Given the description of an element on the screen output the (x, y) to click on. 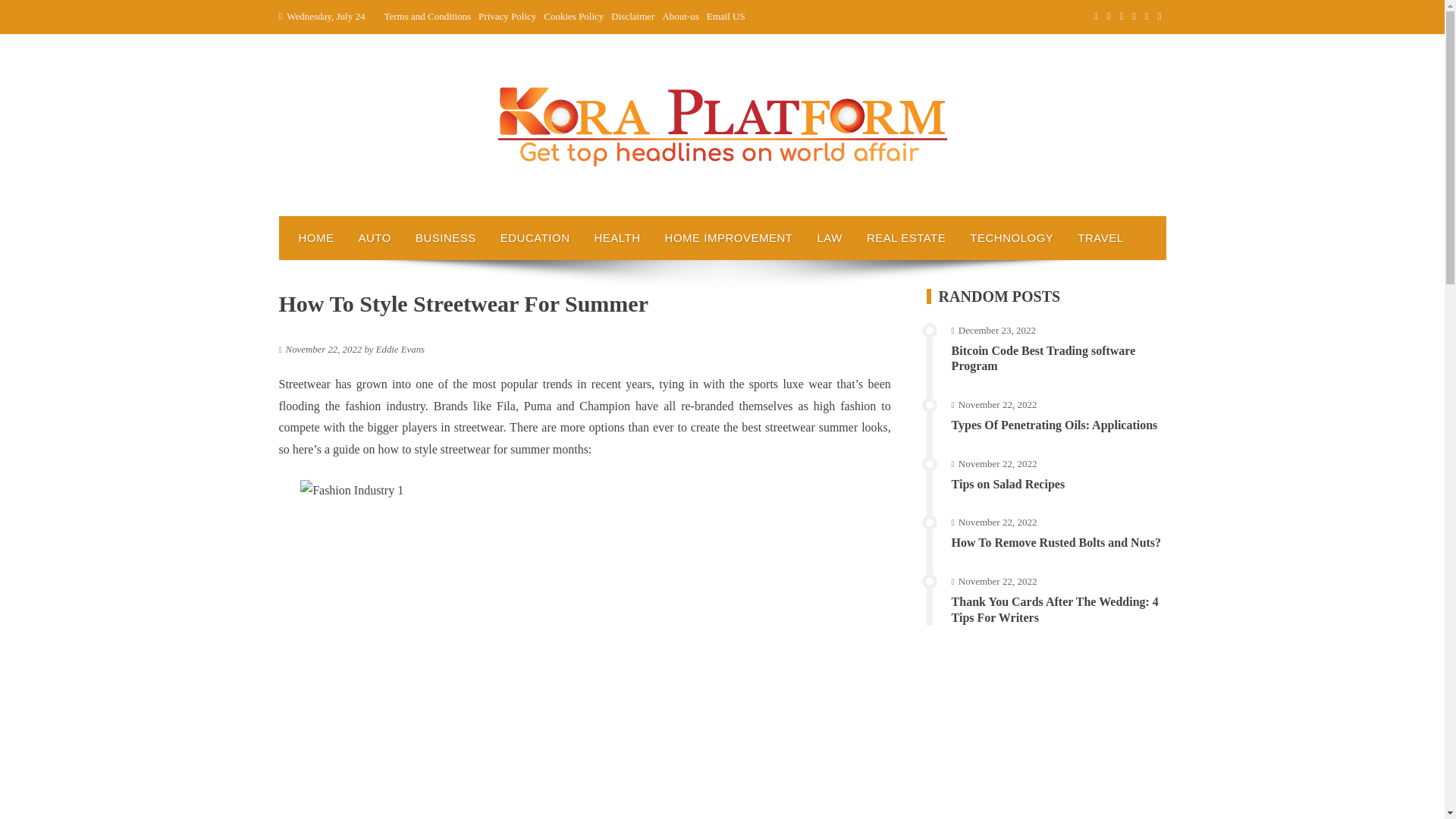
REAL ESTATE (906, 238)
Email US (725, 16)
Privacy Policy (507, 16)
AUTO (374, 238)
Tips on Salad Recipes (1008, 483)
EDUCATION (534, 238)
How To Remove Rusted Bolts and Nuts? (1056, 542)
TECHNOLOGY (1011, 238)
Cookies Policy (573, 16)
TRAVEL (1100, 238)
Disclaimer (632, 16)
Thank You Cards After The Wedding: 4 Tips For Writers (1055, 609)
HOME IMPROVEMENT (728, 238)
Bitcoin Code Best Trading software Program (1043, 358)
